Given the description of an element on the screen output the (x, y) to click on. 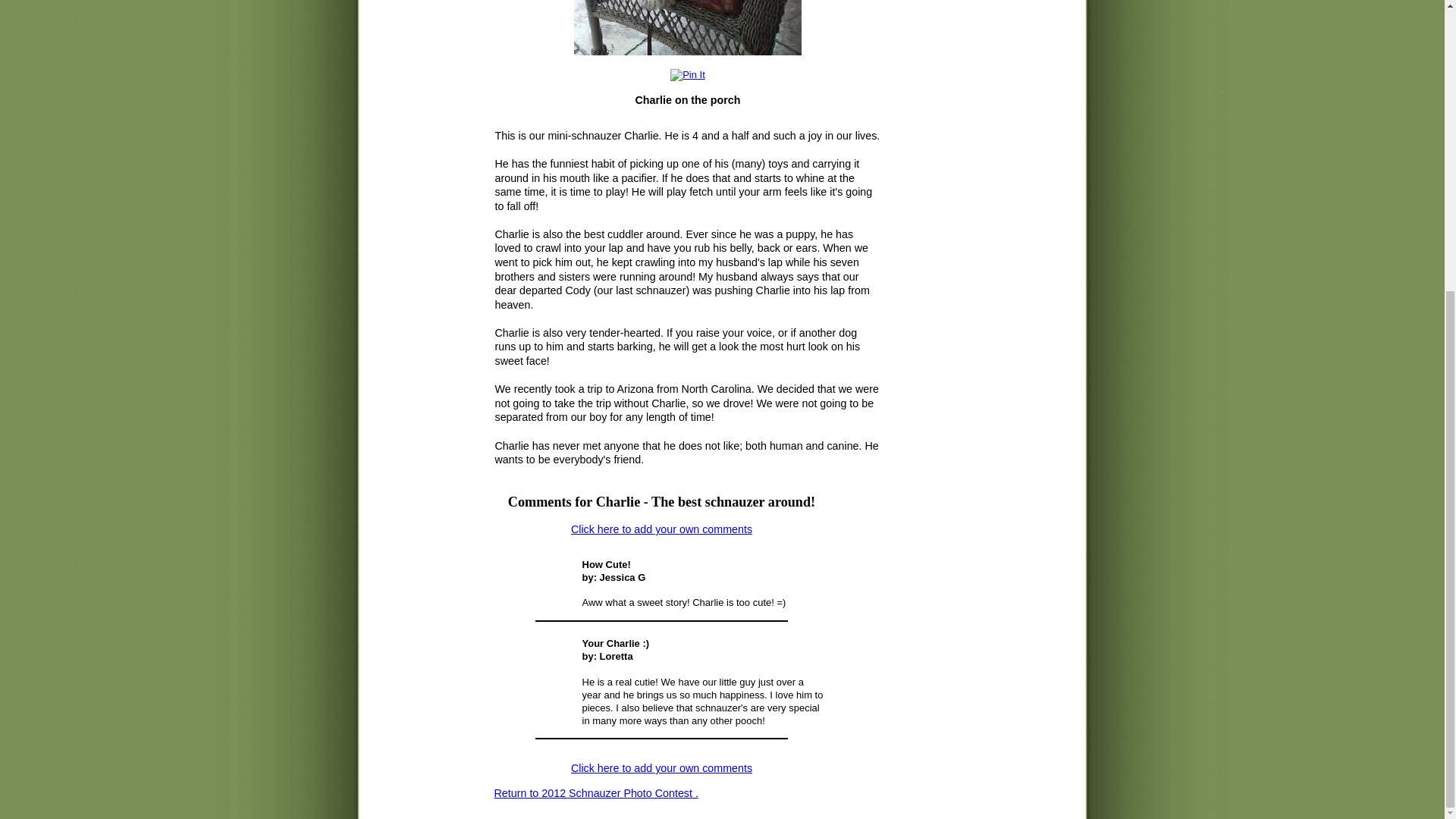
Click here to add your own comments (661, 767)
Return to 2012 Schnauzer Photo Contest . (596, 793)
Click here to add your own comments (661, 529)
Pin It (686, 74)
Charlie on the porch (687, 27)
